Given the description of an element on the screen output the (x, y) to click on. 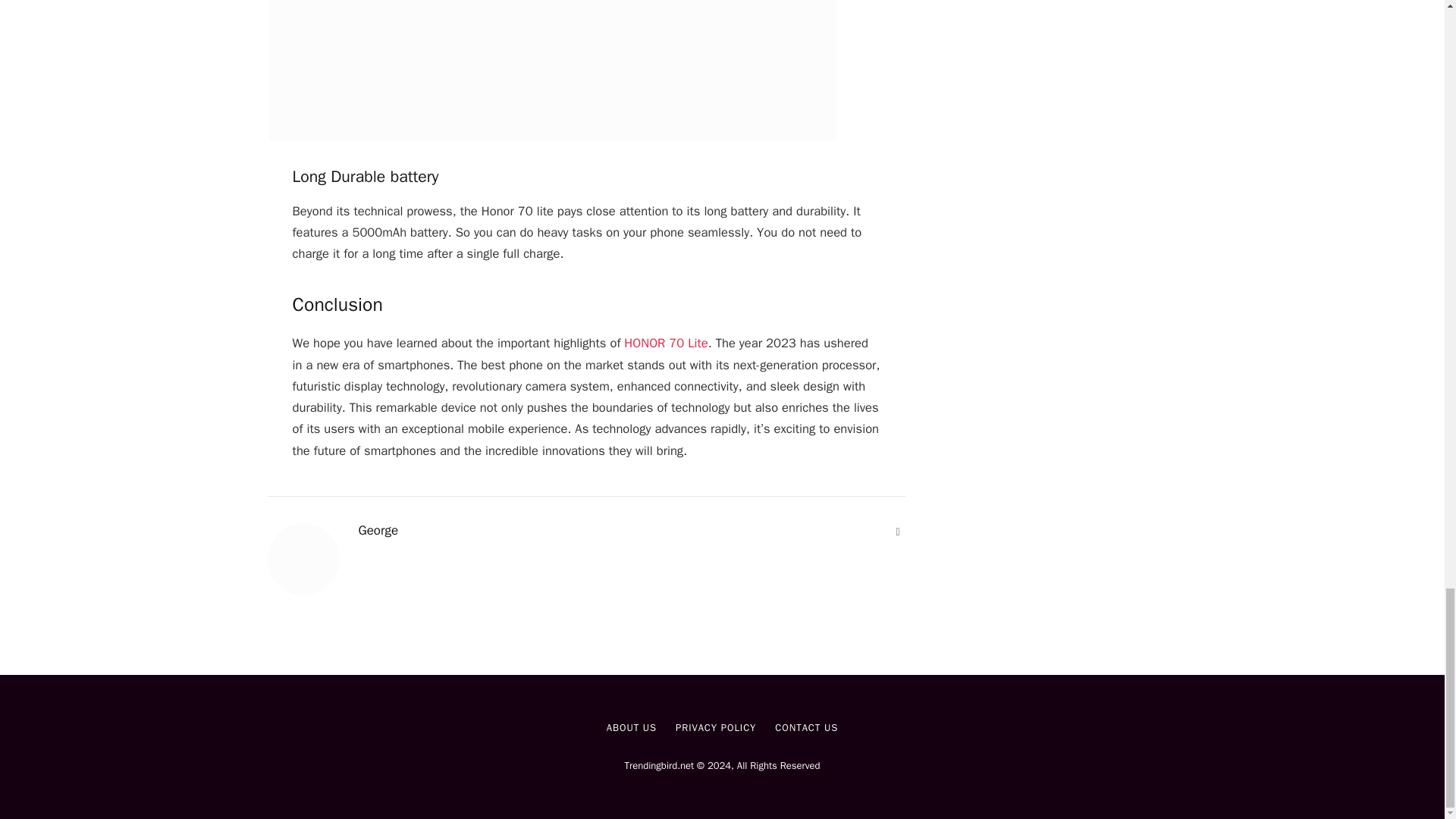
Website (897, 531)
George (377, 530)
HONOR 70 Lite (665, 342)
